Given the description of an element on the screen output the (x, y) to click on. 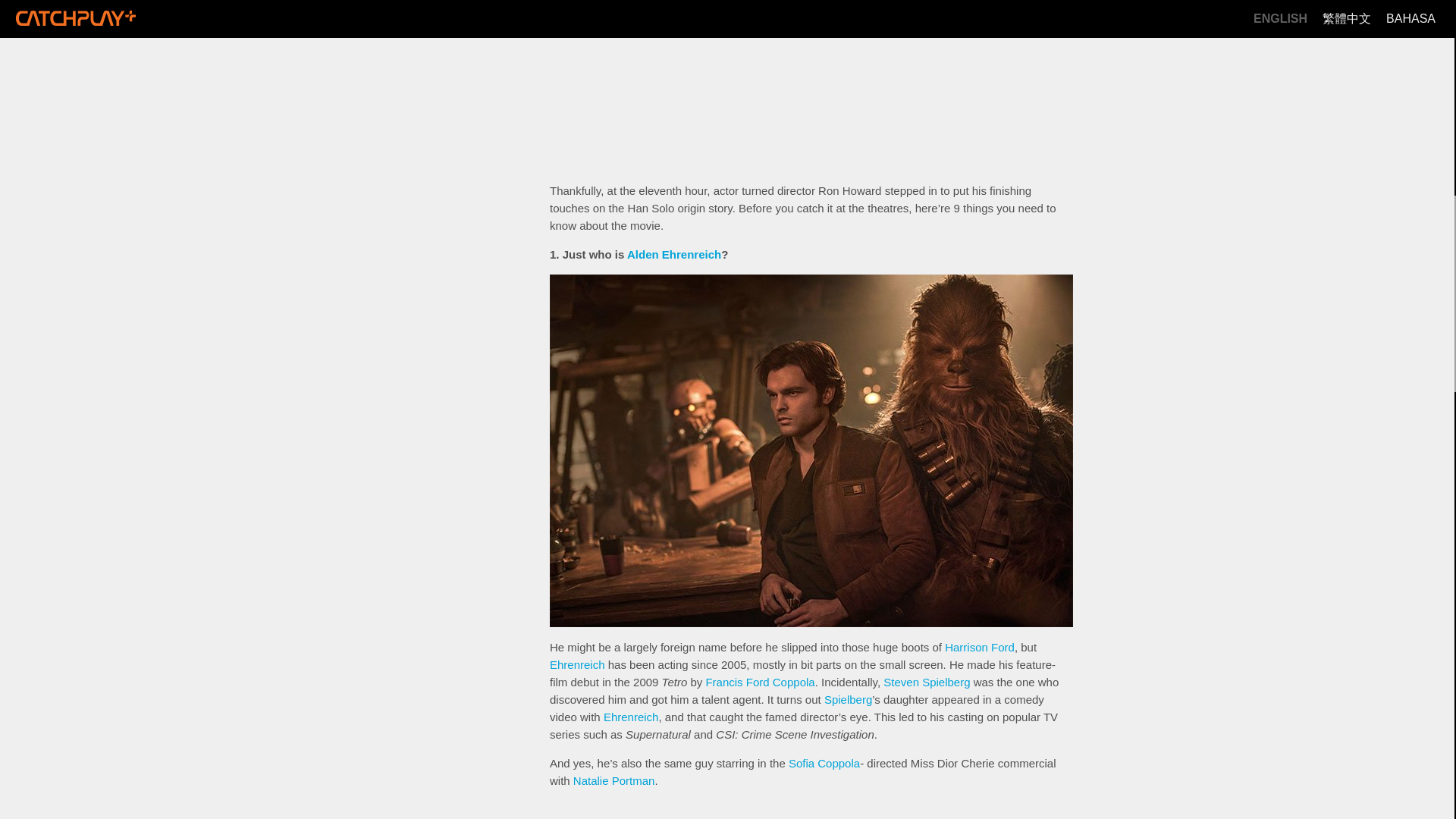
Francis Ford Coppola (758, 681)
Spielberg (848, 698)
Natalie Portman (614, 780)
Steven Spielberg (926, 681)
Ehrenreich (577, 664)
Ehrenreich (631, 716)
Alden Ehrenreich (673, 254)
Harrison Ford (979, 646)
Sofia Coppola (824, 762)
